Given the description of an element on the screen output the (x, y) to click on. 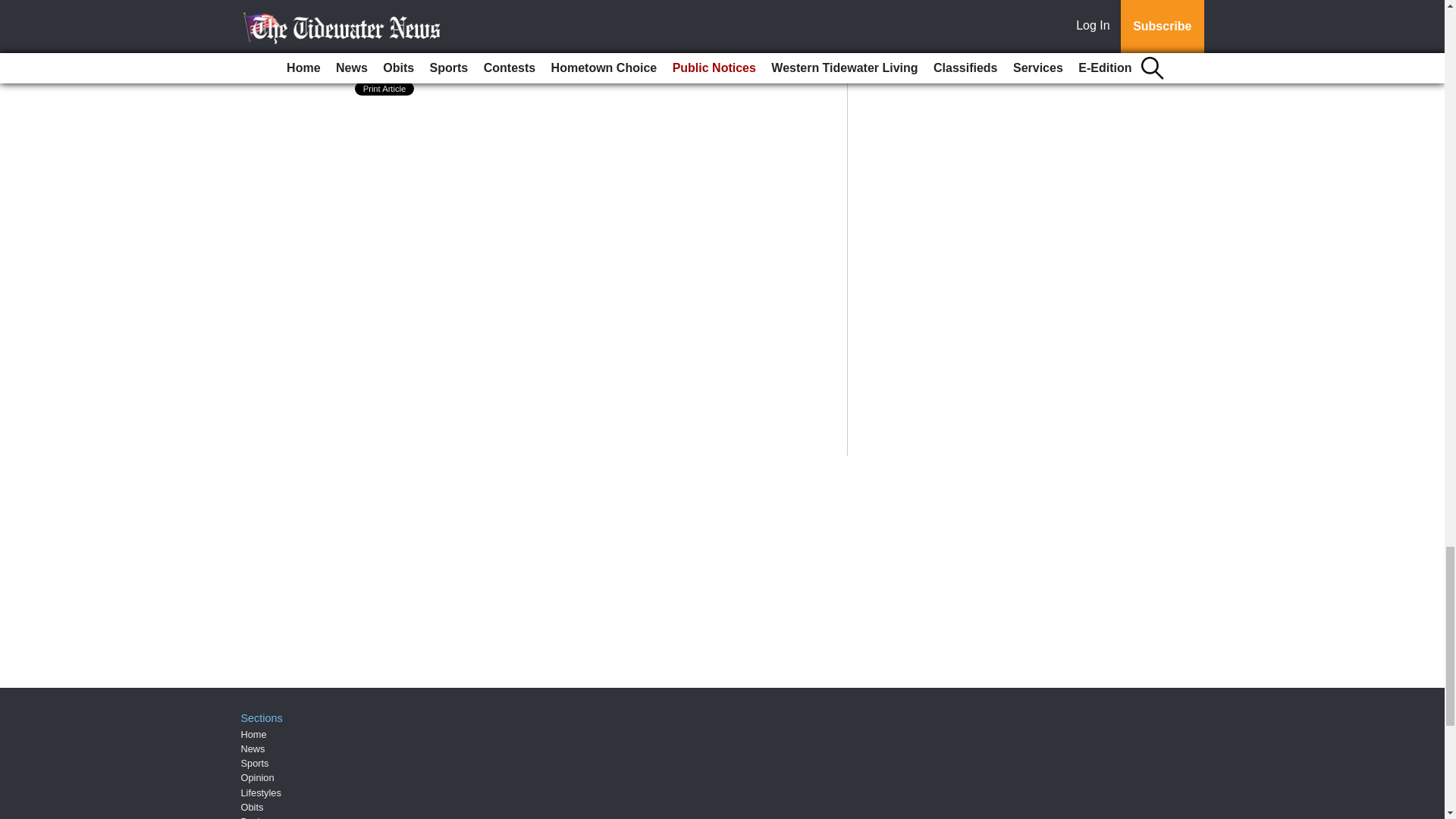
A valuable community asset (475, 39)
Print Article (384, 88)
A valuable community asset (475, 39)
